Given the description of an element on the screen output the (x, y) to click on. 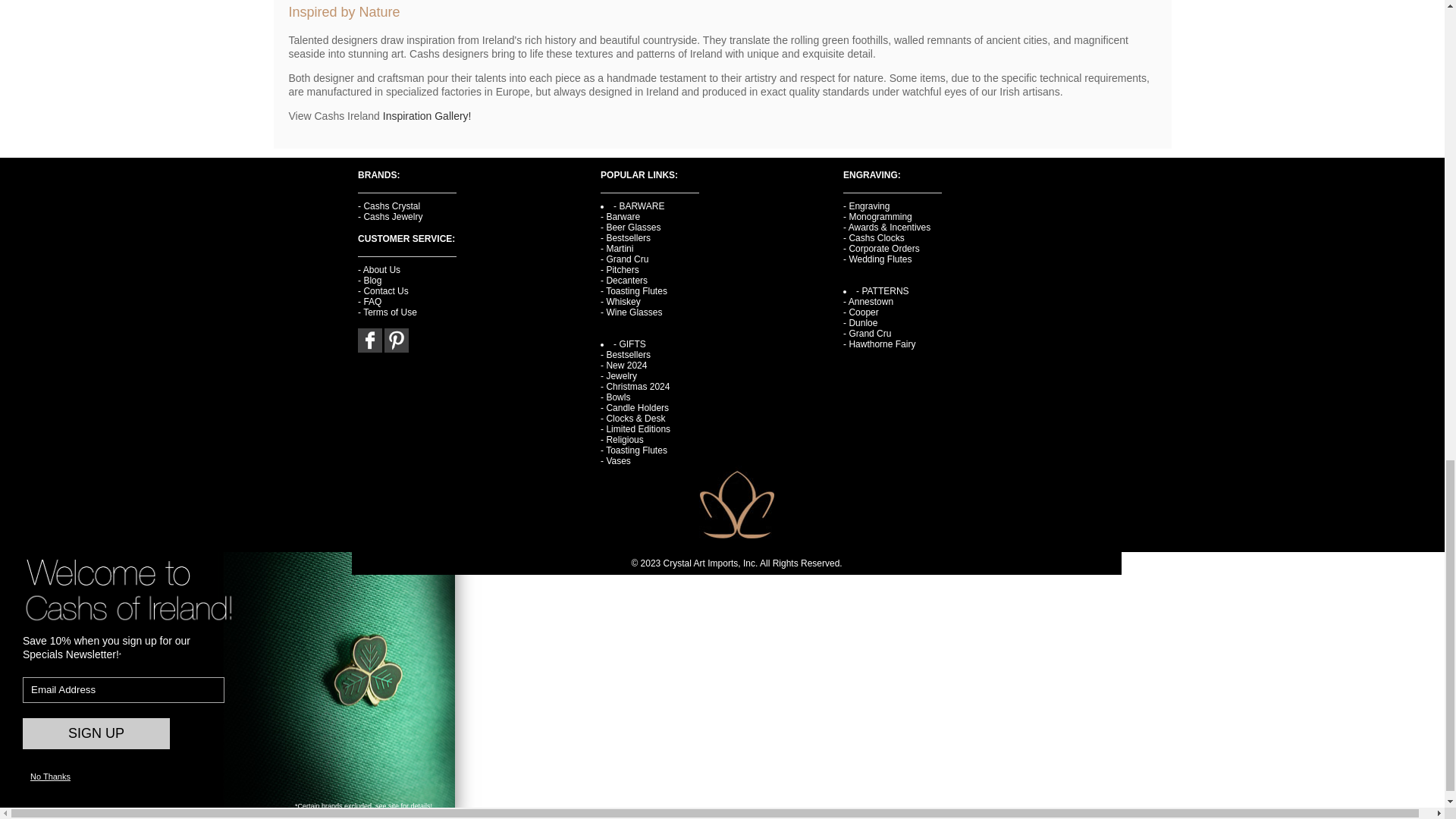
Email Address (123, 689)
Submit (96, 733)
